Given the description of an element on the screen output the (x, y) to click on. 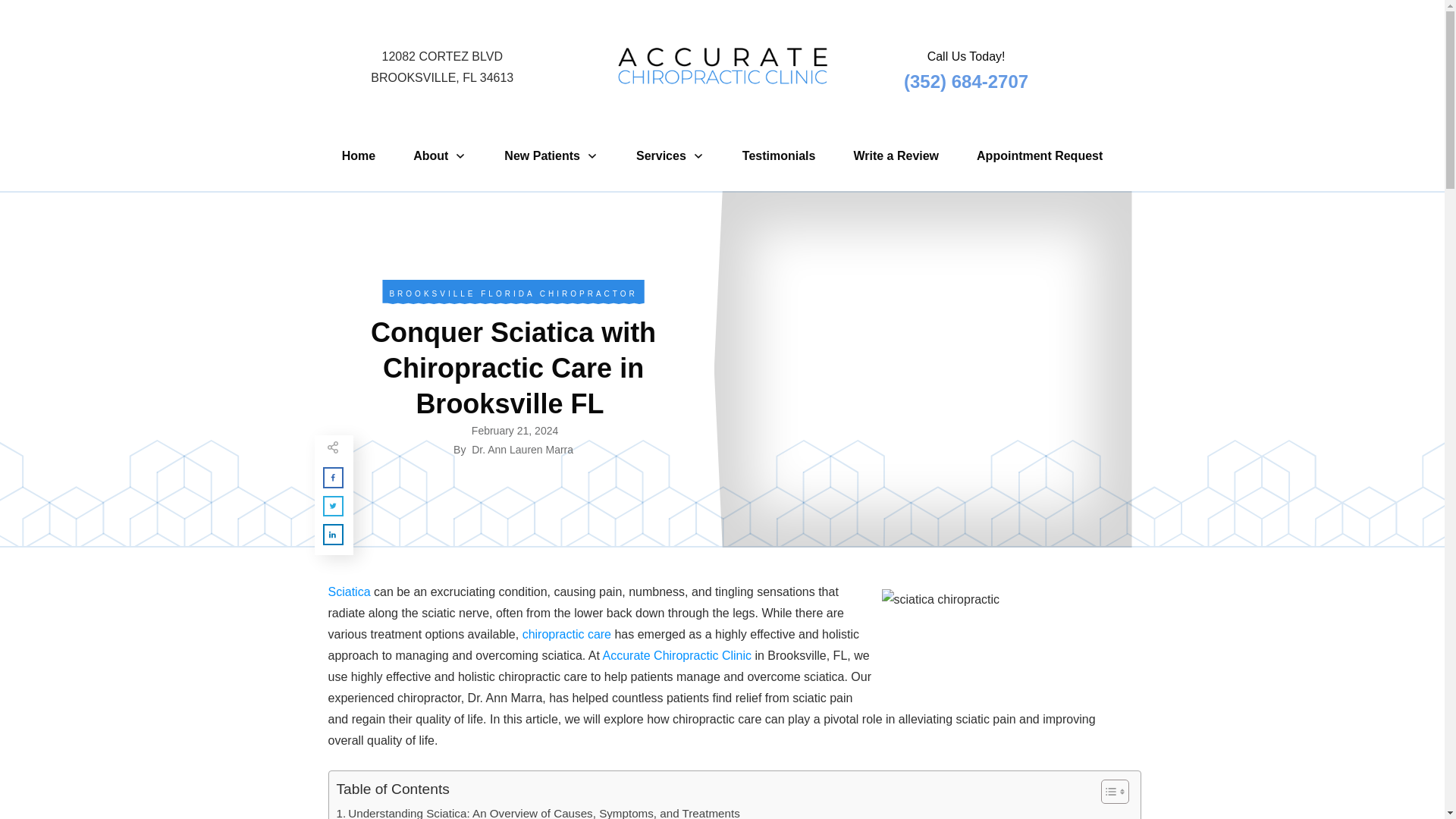
Appointment Request (1039, 156)
Home (358, 156)
BROOKSVILLE FLORIDA CHIROPRACTOR (512, 293)
New Patients (550, 156)
Brooksville Florida Chiropractor (512, 293)
About (439, 156)
Write a Review (896, 156)
Conquer Sciatica with Chiropractic Care in Brooksville FL 1 (441, 69)
Testimonials (994, 642)
Services (778, 156)
